Given the description of an element on the screen output the (x, y) to click on. 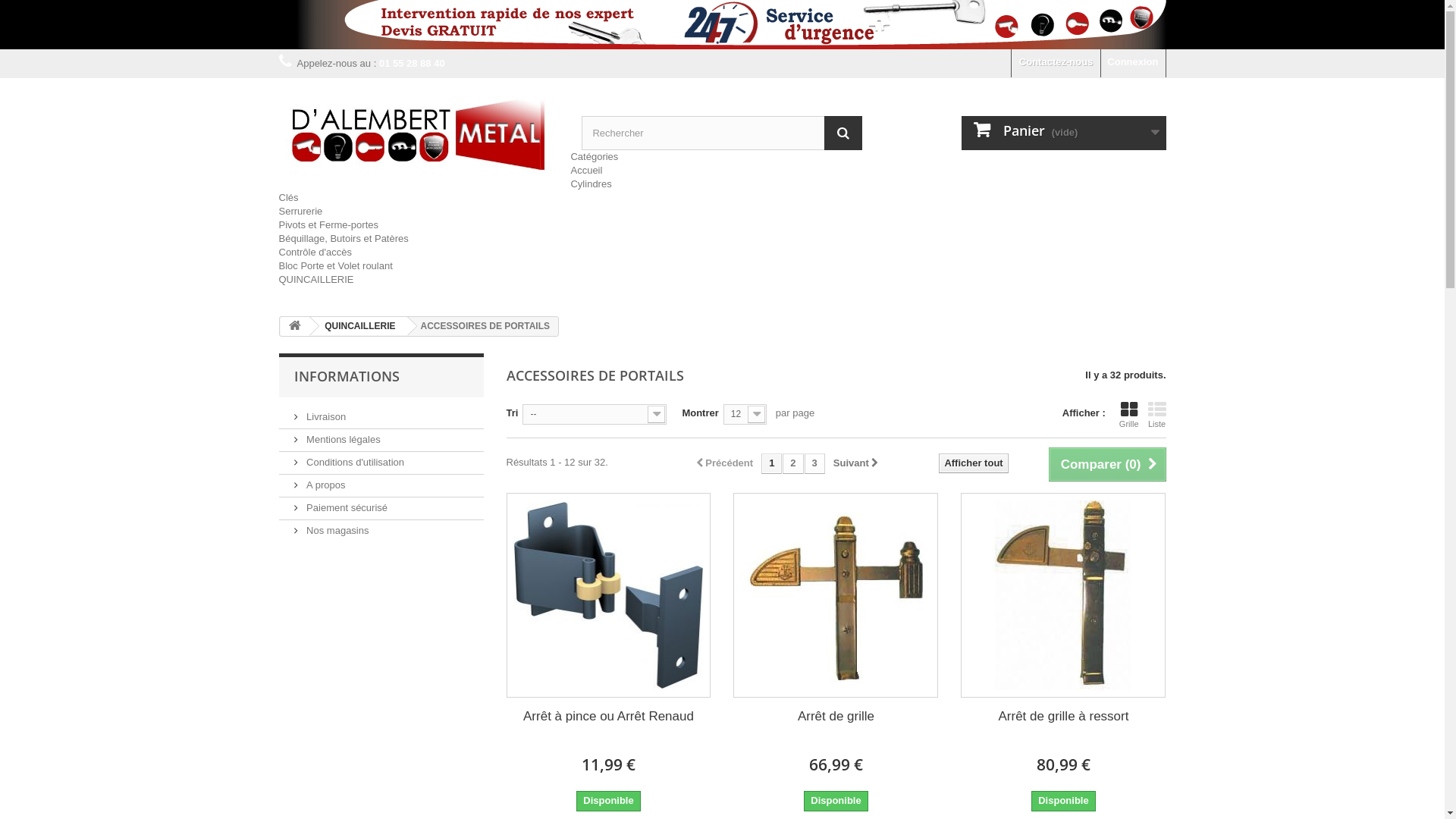
Comparer (0) Element type: text (1107, 464)
Contactez-nous Element type: text (1056, 63)
3 Element type: text (814, 463)
Cylindres Element type: text (590, 183)
A propos Element type: text (319, 484)
INFORMATIONS Element type: text (346, 376)
Liste Element type: text (1157, 414)
Pivots et Ferme-portes Element type: text (329, 224)
Bloc Porte et Volet roulant Element type: text (335, 265)
Conditions d'utilisation Element type: text (349, 461)
Panier (vide) Element type: text (1063, 133)
2 Element type: text (792, 463)
Serrurerie Element type: text (301, 210)
Livraison Element type: text (320, 416)
24heuresserrurerie.com Element type: hover (419, 136)
Connexion Element type: text (1132, 63)
Accueil Element type: text (586, 169)
Afficher tout Element type: text (972, 463)
QUINCAILLERIE Element type: text (316, 279)
Suivant Element type: text (855, 463)
QUINCAILLERIE Element type: text (356, 325)
Grille Element type: text (1129, 414)
Nos magasins Element type: text (331, 530)
